Given the description of an element on the screen output the (x, y) to click on. 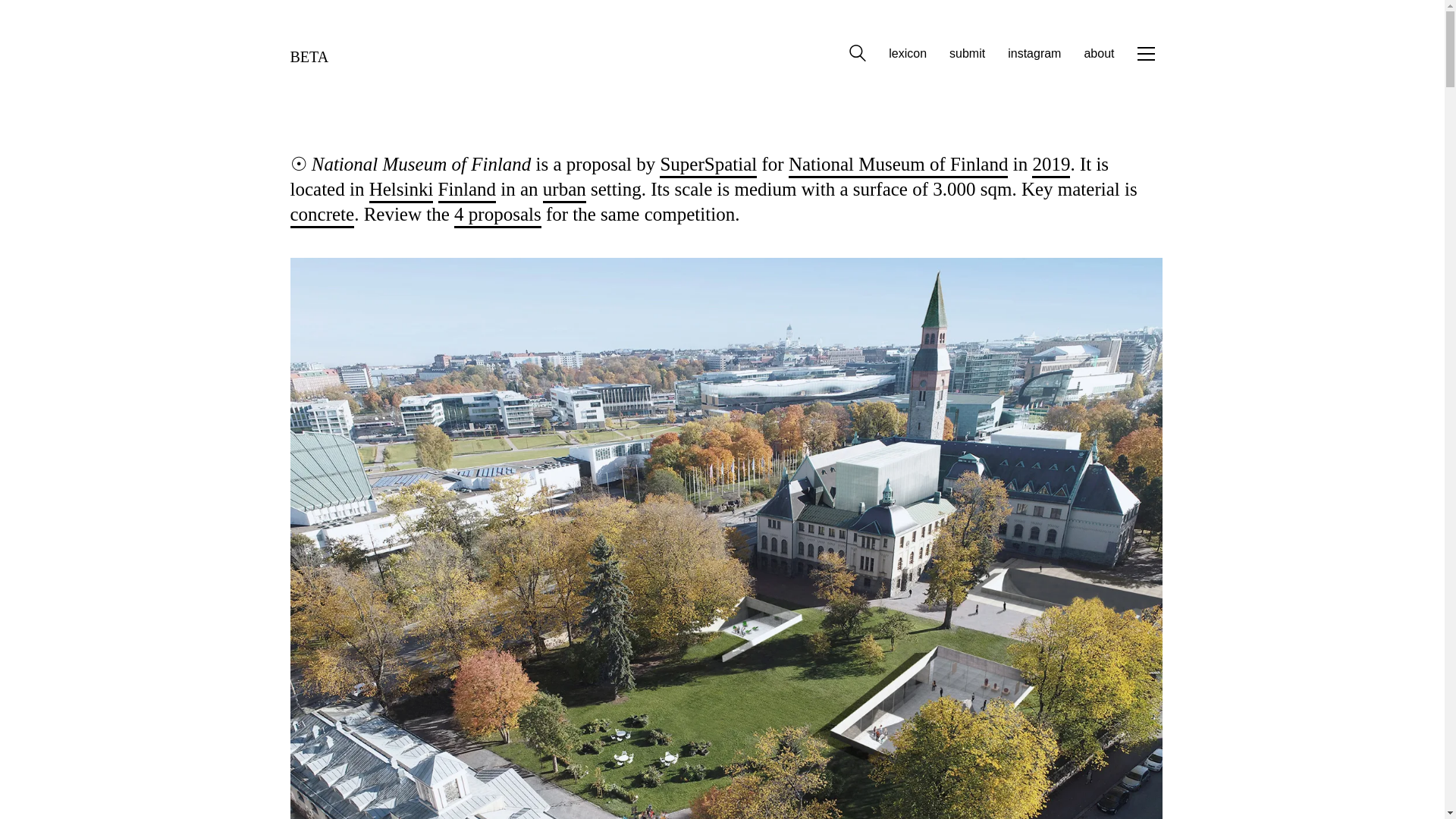
urban (564, 190)
SuperSpatial (708, 165)
concrete's archive (321, 215)
about (1098, 53)
BETA (309, 53)
submit (967, 53)
Finland (467, 190)
SuperSpatial (708, 165)
concrete (321, 215)
National Museum of Finland (899, 165)
